Given the description of an element on the screen output the (x, y) to click on. 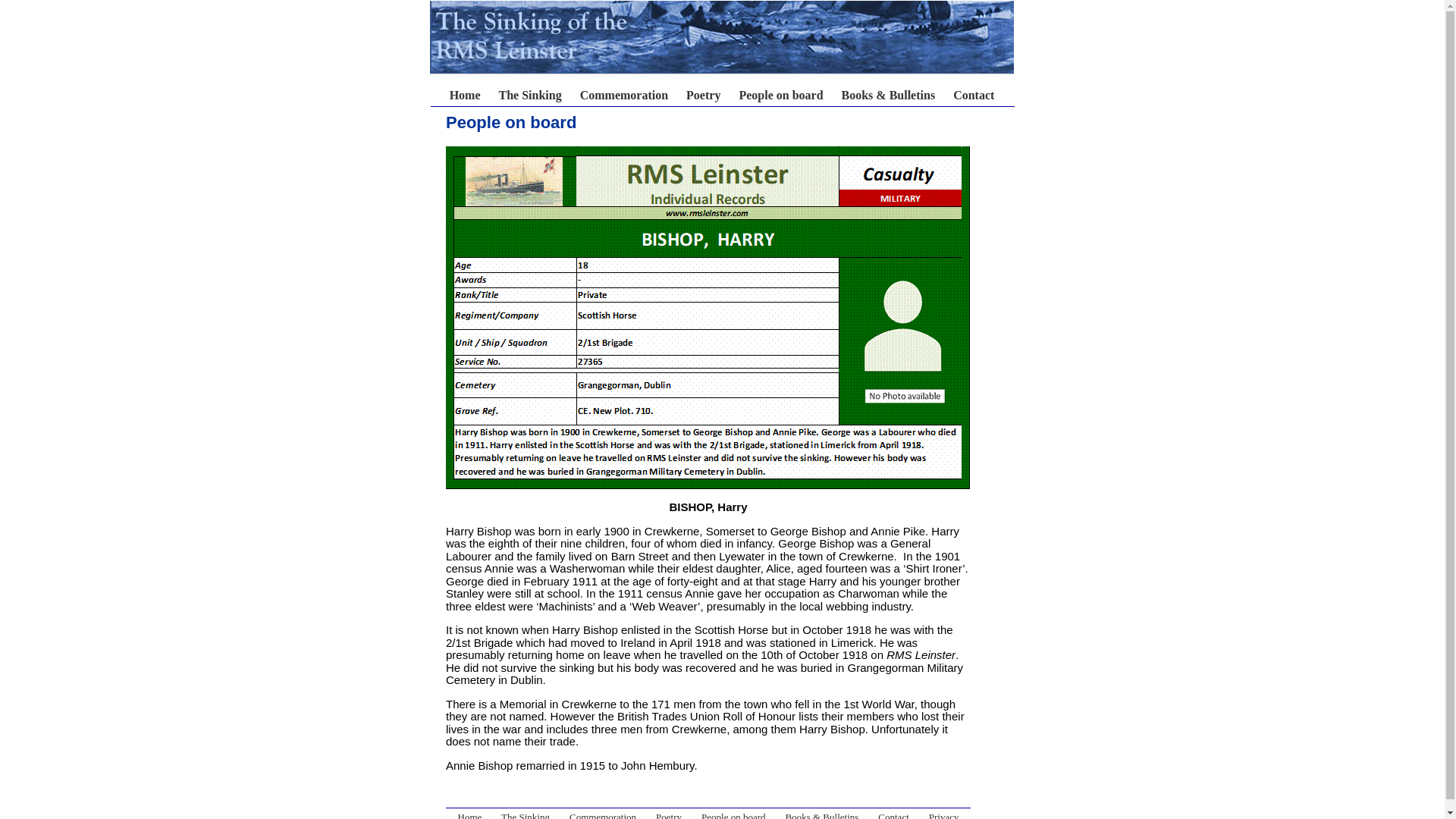
The Sinking (525, 815)
People on board (780, 94)
Poetry (668, 815)
Home (469, 815)
Contact (892, 815)
The Sinking (530, 94)
Contact (973, 94)
Poetry (702, 94)
Privacy (943, 815)
Home (585, 101)
Commemoration (602, 815)
Commemoration (623, 94)
People on board (733, 815)
